Given the description of an element on the screen output the (x, y) to click on. 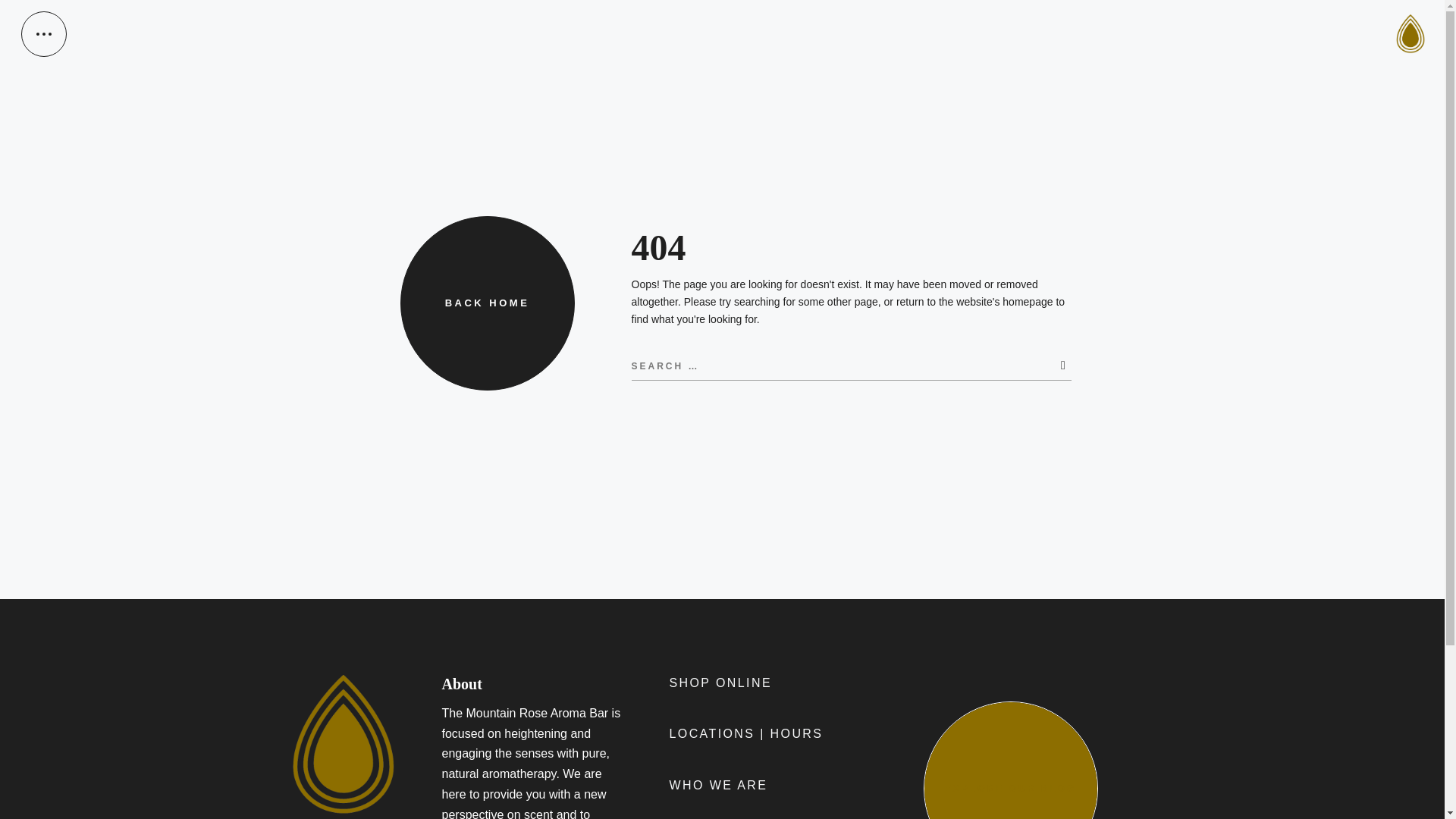
WHO WE ARE (717, 786)
BACK HOME (487, 303)
EXPLORE OUR BLOG (1010, 760)
SHOP ONLINE (719, 683)
